Given the description of an element on the screen output the (x, y) to click on. 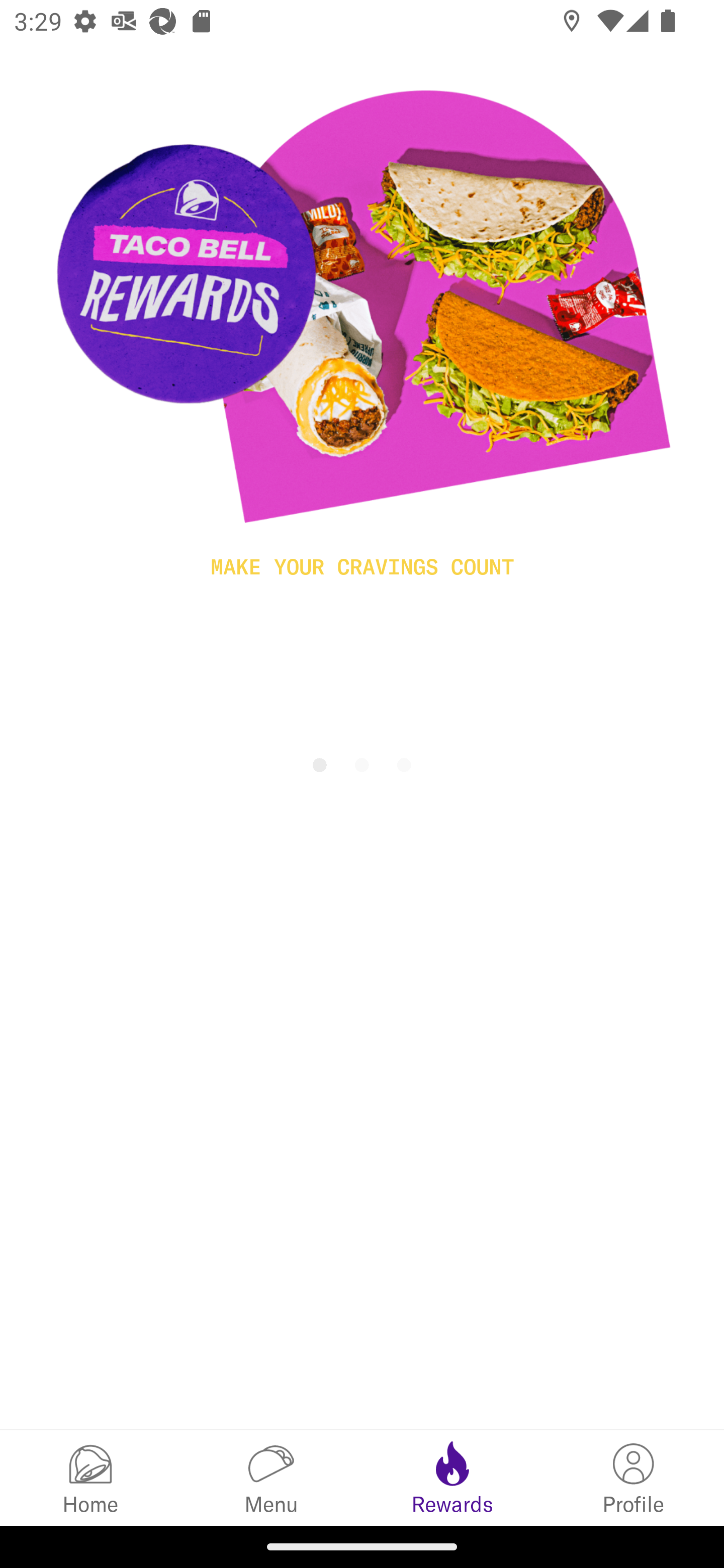
Home (90, 1476)
Menu (271, 1476)
Rewards (452, 1476)
My Info Profile (633, 1476)
